Given the description of an element on the screen output the (x, y) to click on. 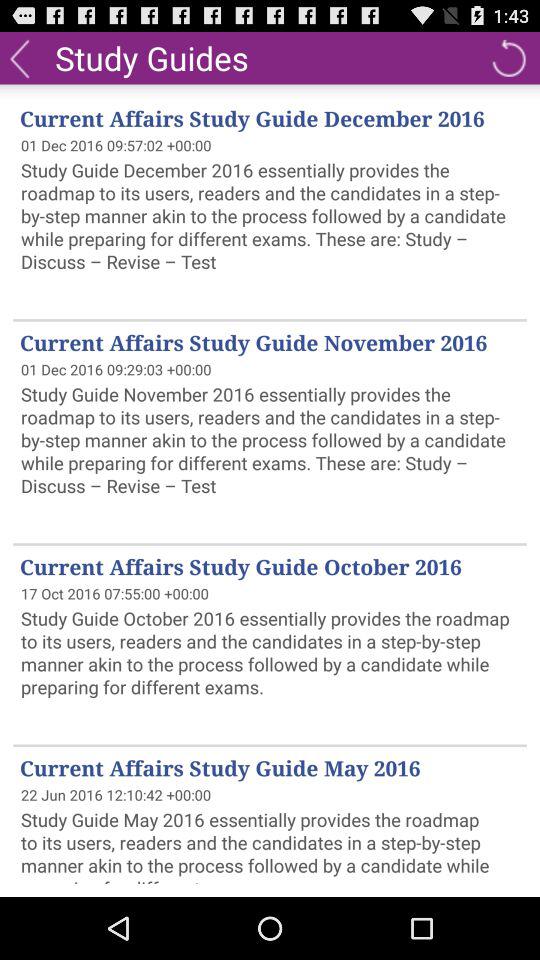
click item above the current affairs study icon (151, 57)
